Given the description of an element on the screen output the (x, y) to click on. 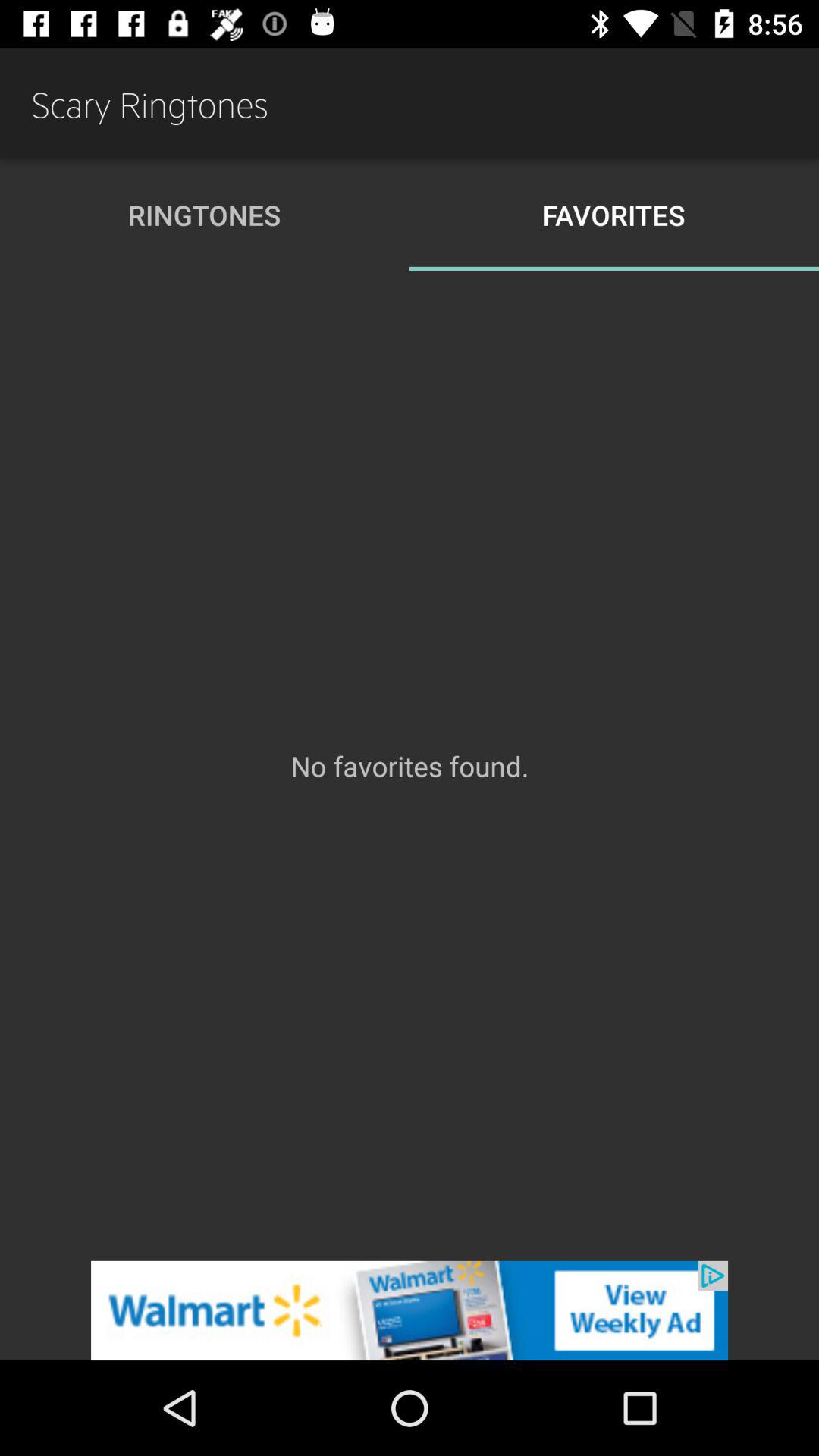
banner advertisement (409, 1310)
